Given the description of an element on the screen output the (x, y) to click on. 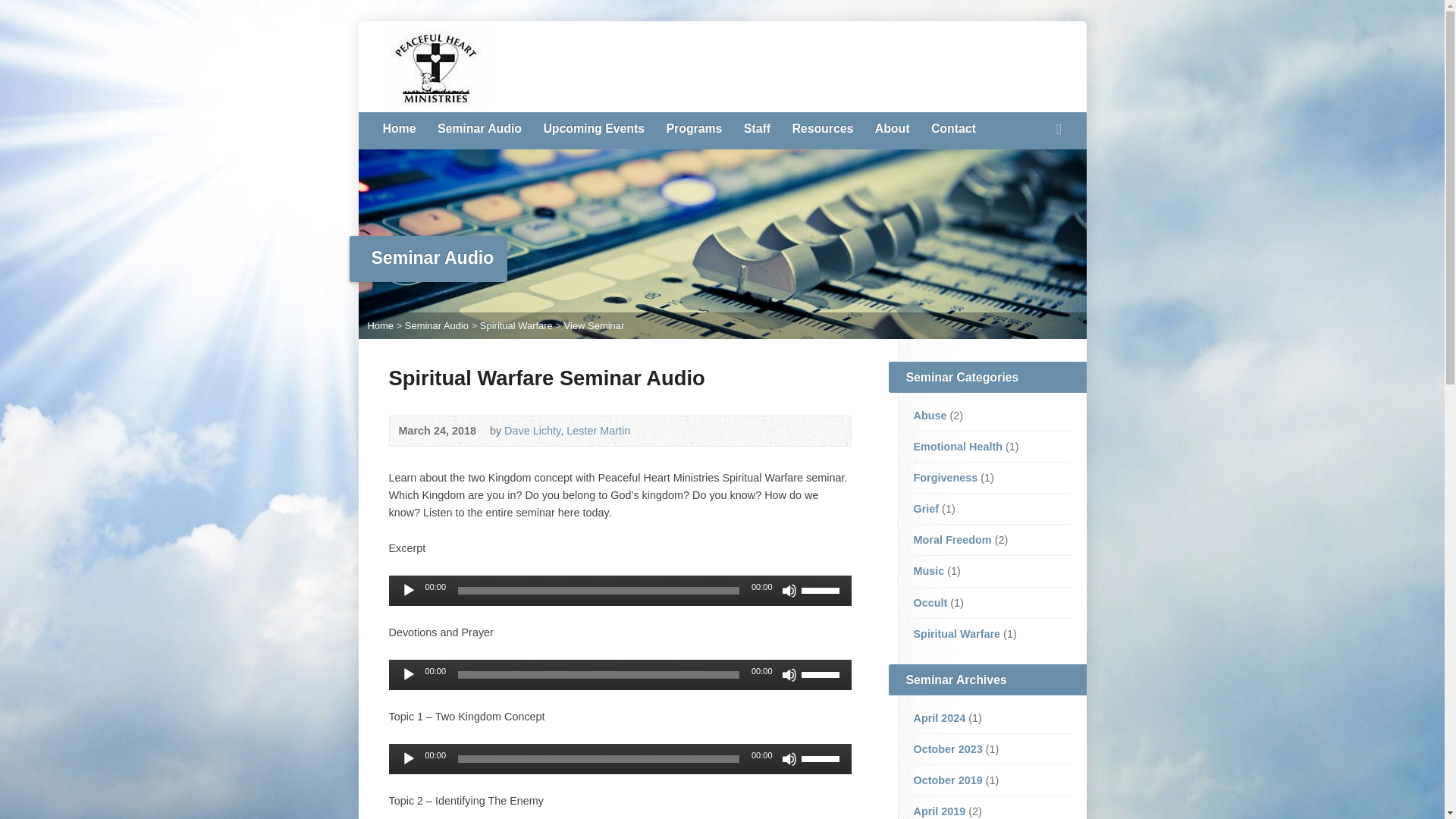
Mute (788, 590)
Staff (757, 128)
Play (407, 674)
Upcoming Events (594, 128)
Play (407, 758)
Programs (693, 128)
About (892, 128)
Dave Lichty (531, 430)
Mute (788, 758)
Mute (788, 674)
Play (407, 590)
Resources (822, 128)
Seminar Audio (479, 128)
Lester Martin (598, 430)
Spiritual Warfare (516, 325)
